Given the description of an element on the screen output the (x, y) to click on. 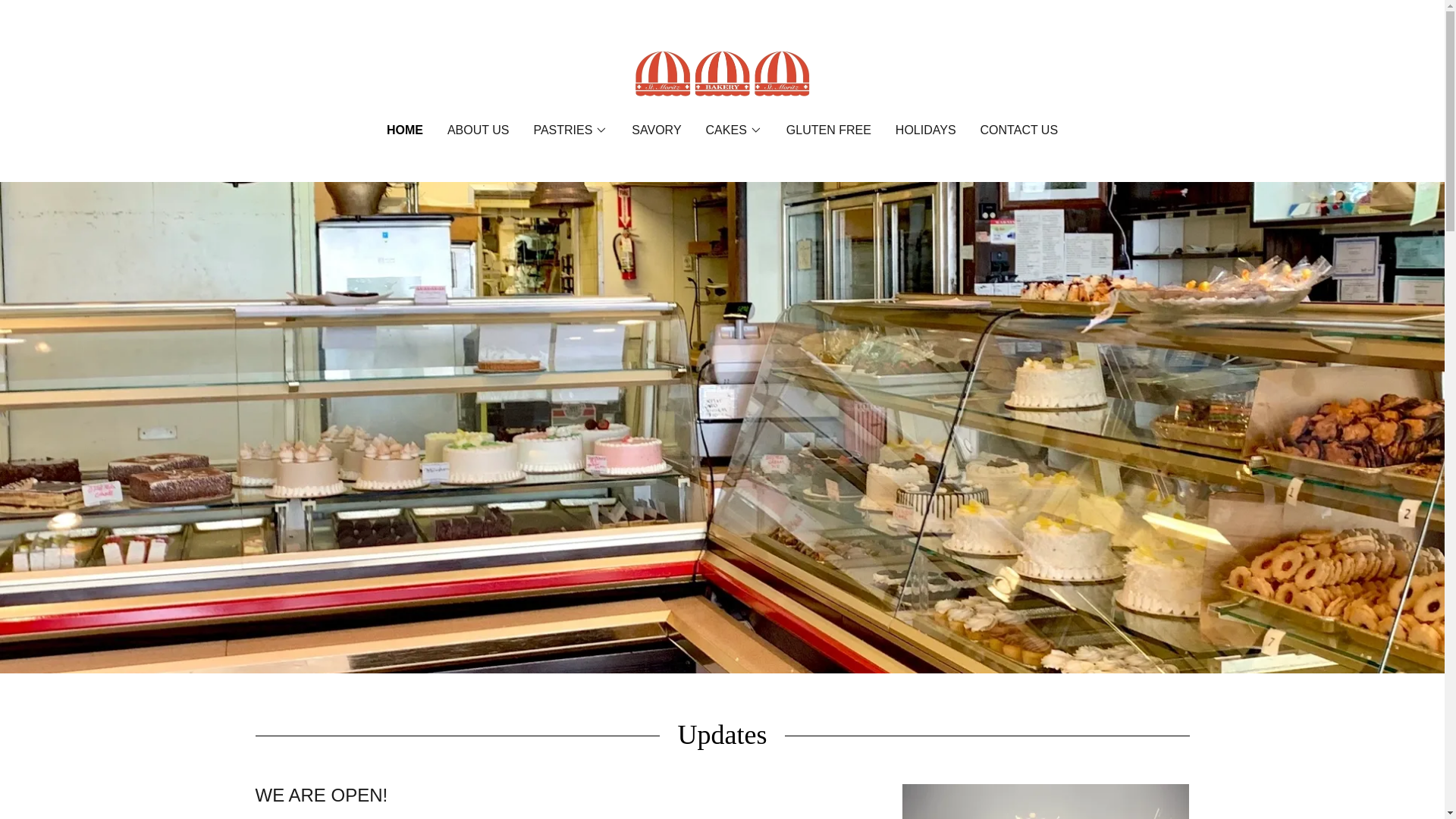
GLUTEN FREE (828, 130)
CONTACT US (1018, 130)
HOME (405, 130)
ABOUT US (477, 130)
St. Moritz Bakery (721, 71)
SAVORY (656, 130)
HOLIDAYS (925, 130)
CAKES (734, 130)
PASTRIES (569, 130)
